Given the description of an element on the screen output the (x, y) to click on. 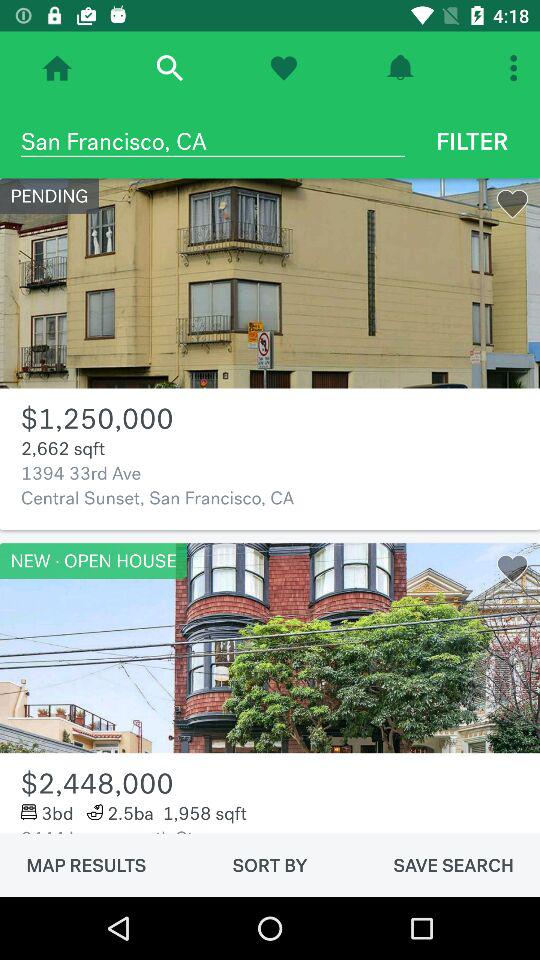
press the icon below the 2444 leavenworth st (453, 865)
